Given the description of an element on the screen output the (x, y) to click on. 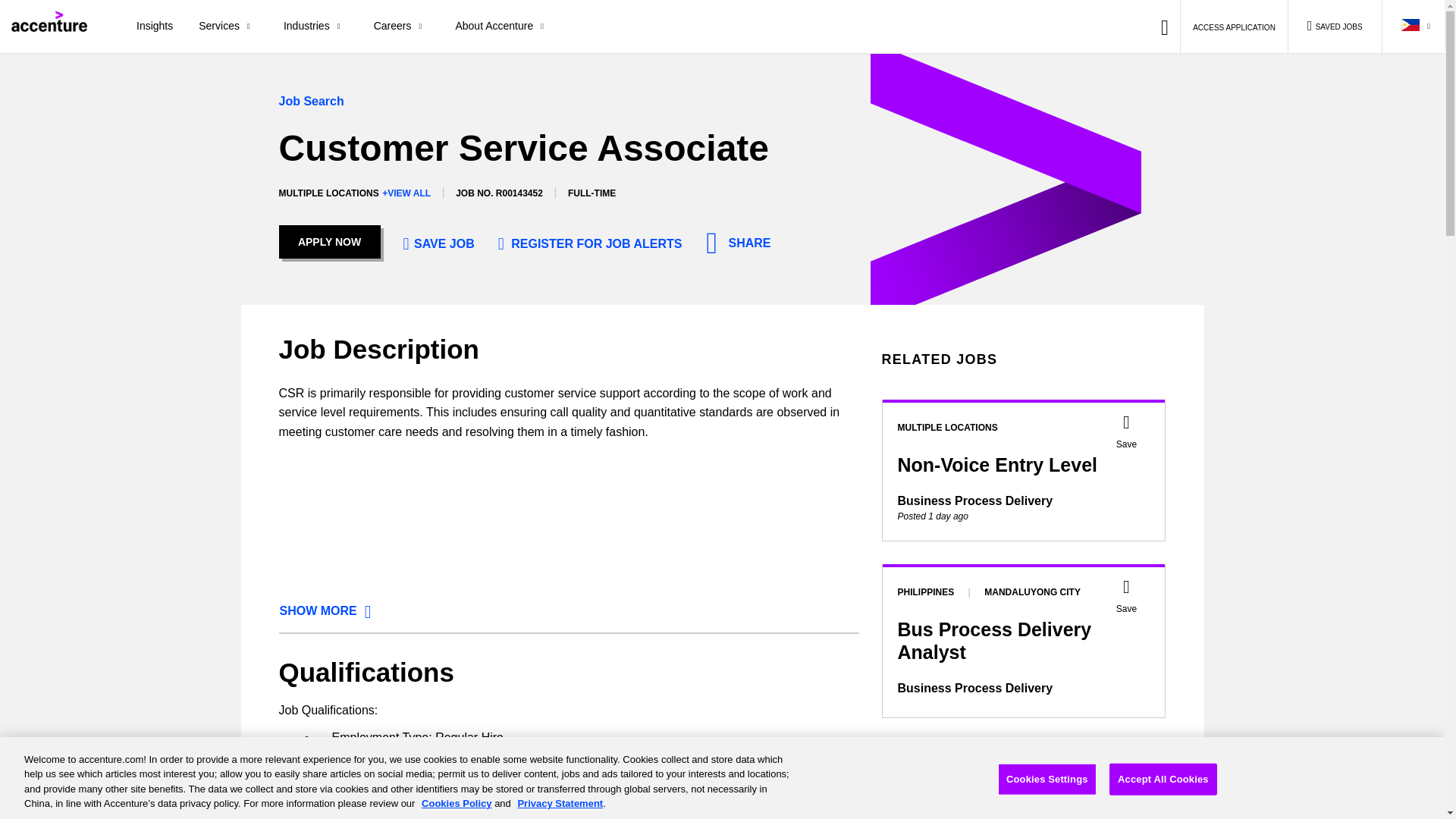
Services (228, 26)
Industries (315, 26)
Insights (154, 26)
